Given the description of an element on the screen output the (x, y) to click on. 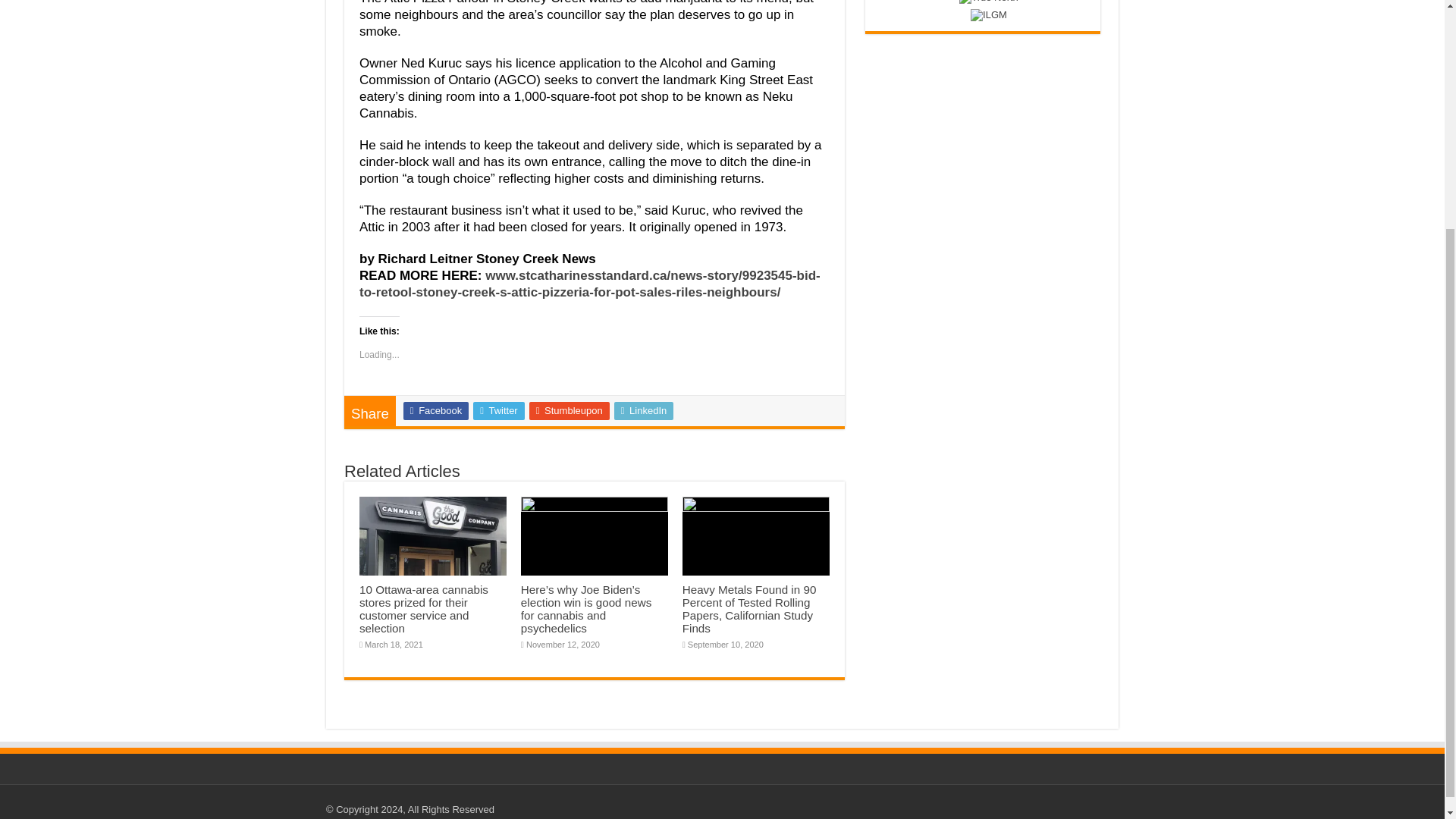
LinkedIn (644, 411)
Facebook (435, 411)
Stumbleupon (569, 411)
Twitter (498, 411)
